Given the description of an element on the screen output the (x, y) to click on. 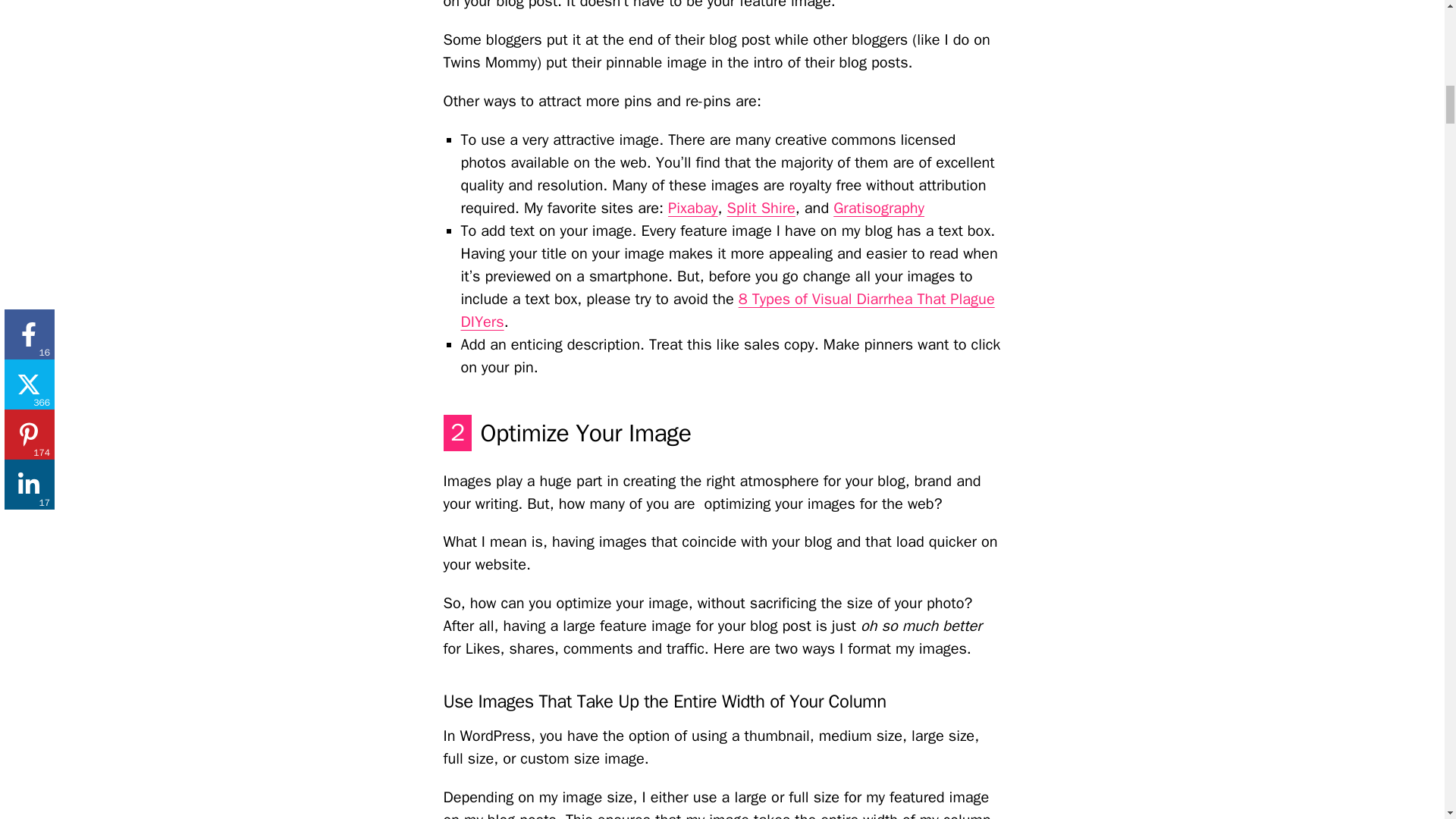
8 Types of Visual Diarrhea That Plague DIYers (727, 310)
Split Shire (760, 208)
Gratisography (878, 208)
Pixabay (692, 208)
